Given the description of an element on the screen output the (x, y) to click on. 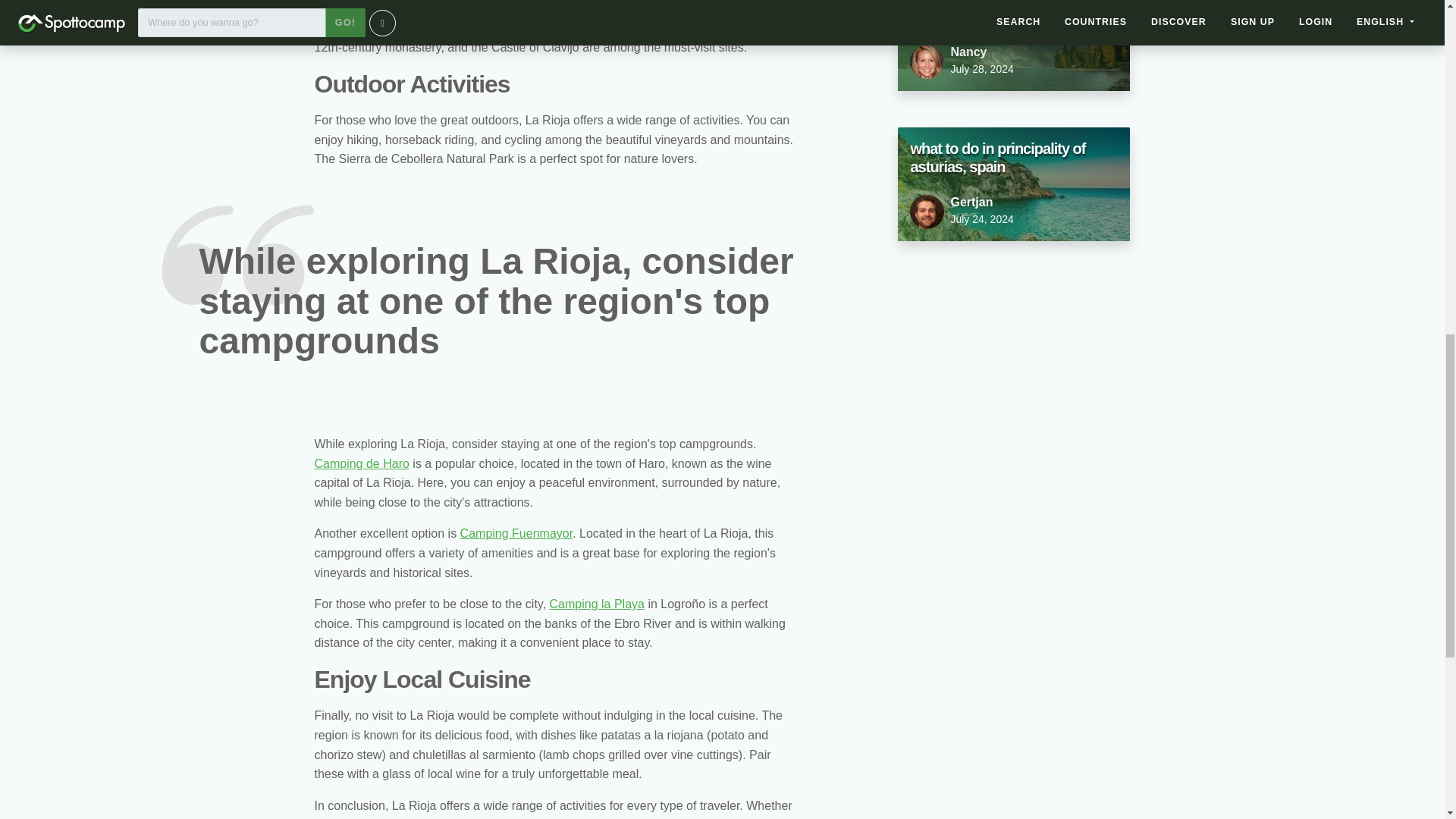
Camping la Playa (1013, 45)
Camping Fuenmayor (597, 603)
Camping de Haro (516, 533)
